Given the description of an element on the screen output the (x, y) to click on. 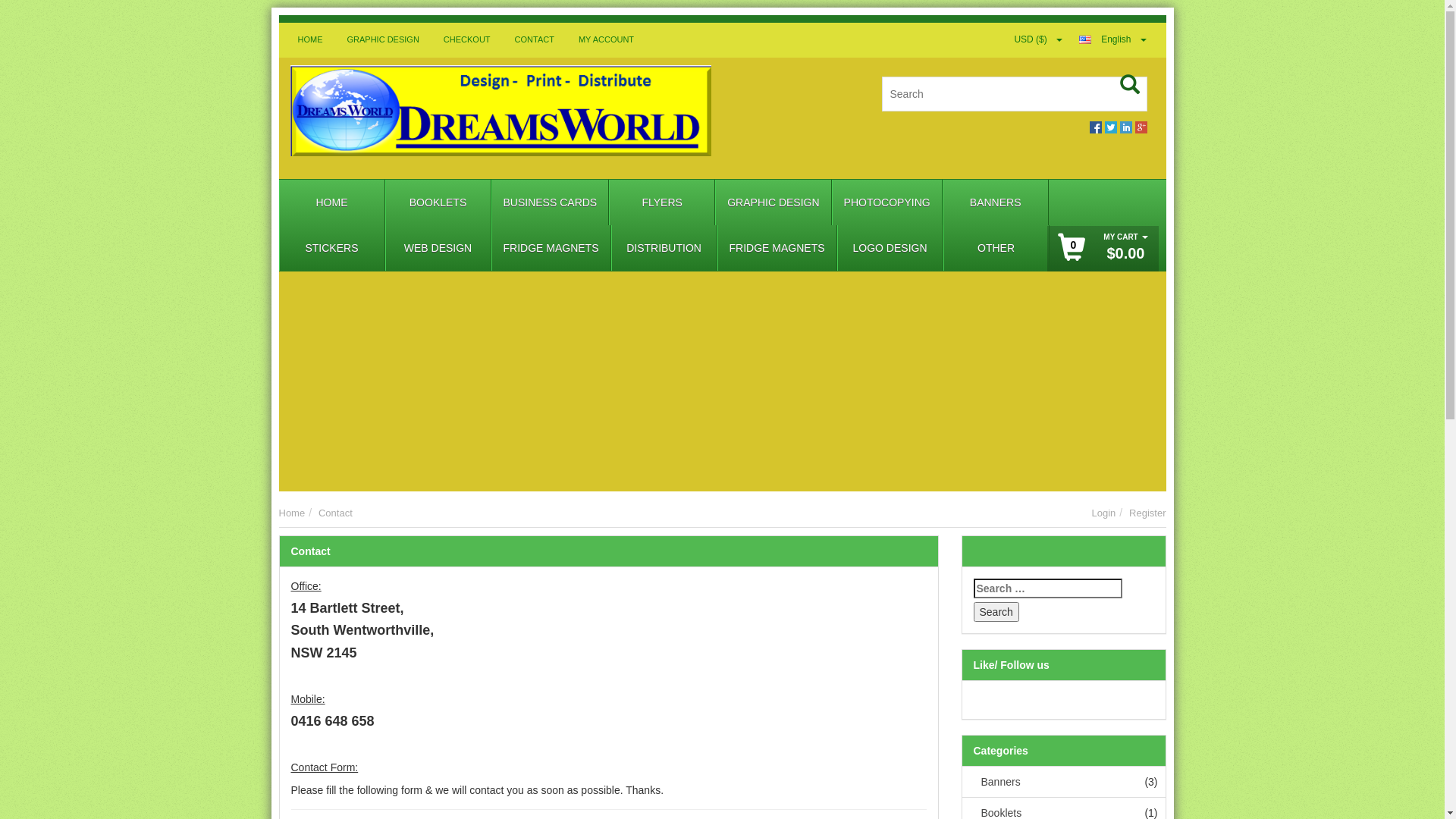
LOGO DESIGN Element type: text (889, 247)
HOME Element type: text (331, 202)
CHECKOUT Element type: text (467, 39)
DISTRIBUTION Element type: text (663, 247)
Advertisement Element type: hover (722, 385)
Banners Element type: text (996, 781)
dreamsworld Element type: hover (499, 118)
BANNERS Element type: text (995, 202)
BUSINESS CARDS Element type: text (549, 202)
FLYERS Element type: text (661, 202)
Search Element type: text (996, 611)
STICKERS Element type: text (331, 247)
WEB DESIGN Element type: text (437, 247)
GRAPHIC DESIGN Element type: text (382, 39)
MY ACCOUNT Element type: text (606, 39)
Home Element type: text (292, 512)
Contact Element type: text (335, 512)
PHOTOCOPYING Element type: text (886, 202)
HOME Element type: text (310, 39)
GRAPHIC DESIGN Element type: text (772, 202)
Login Element type: text (1103, 512)
Register Element type: text (1147, 512)
FRIDGE MAGNETS Element type: text (777, 247)
FRIDGE MAGNETS Element type: text (550, 247)
CONTACT Element type: text (534, 39)
BOOKLETS Element type: text (437, 202)
OTHER Element type: text (996, 247)
